Given the description of an element on the screen output the (x, y) to click on. 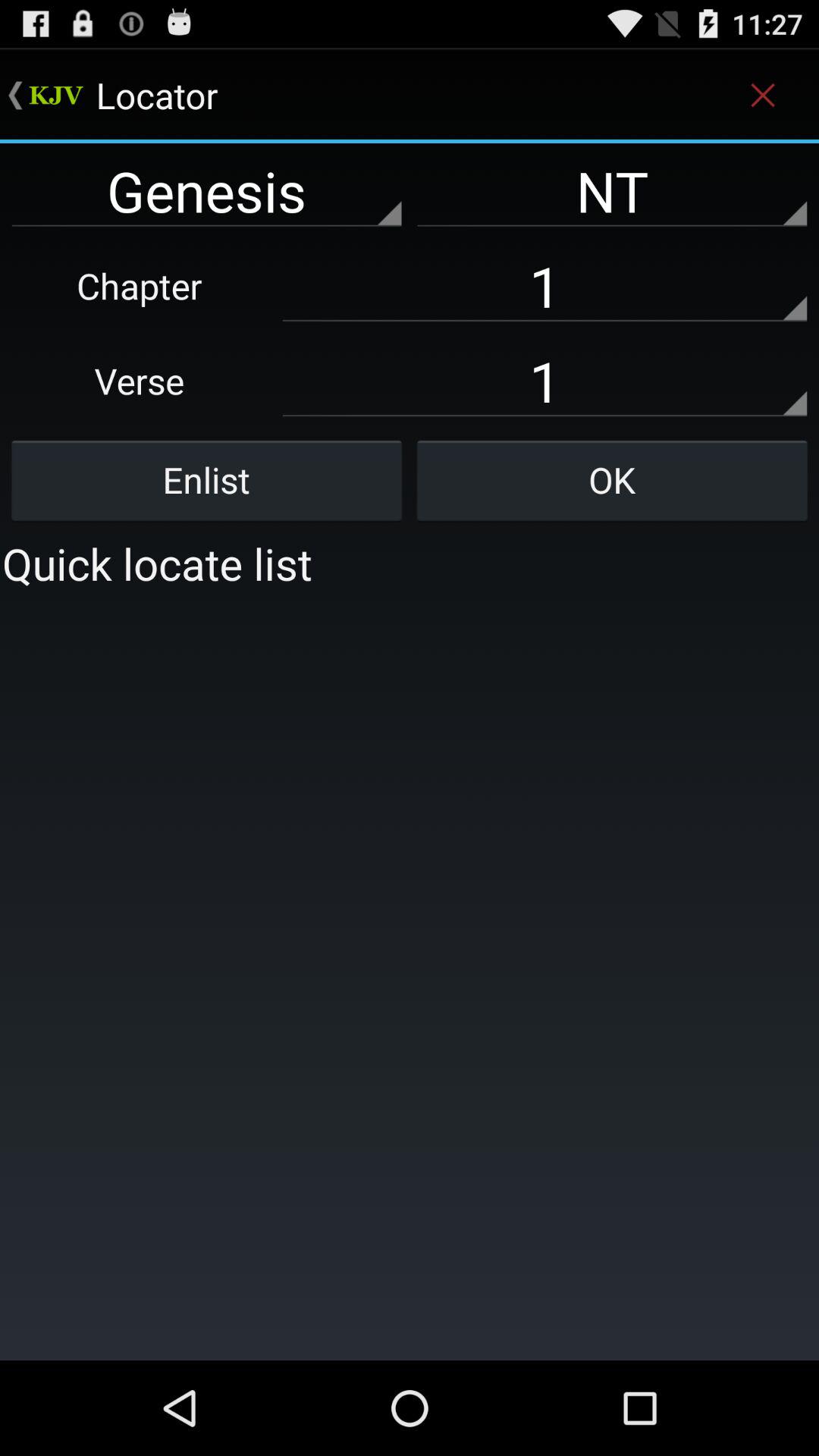
jump to enlist (206, 479)
